Given the description of an element on the screen output the (x, y) to click on. 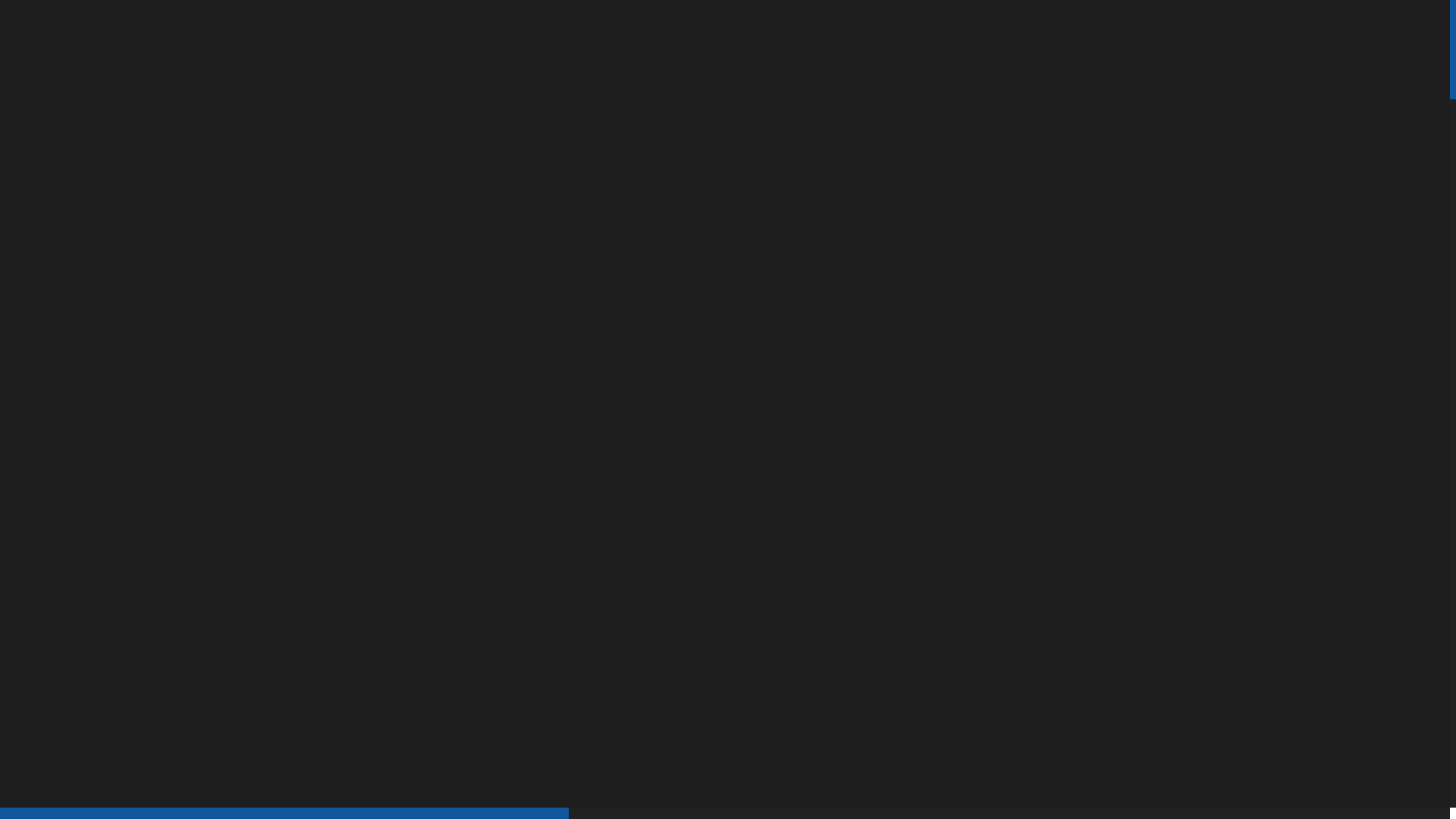
Services Element type: text (609, 56)
Demande d'information Element type: text (1280, 56)
Clients Element type: text (761, 56)
Contact Element type: text (894, 56)
